Given the description of an element on the screen output the (x, y) to click on. 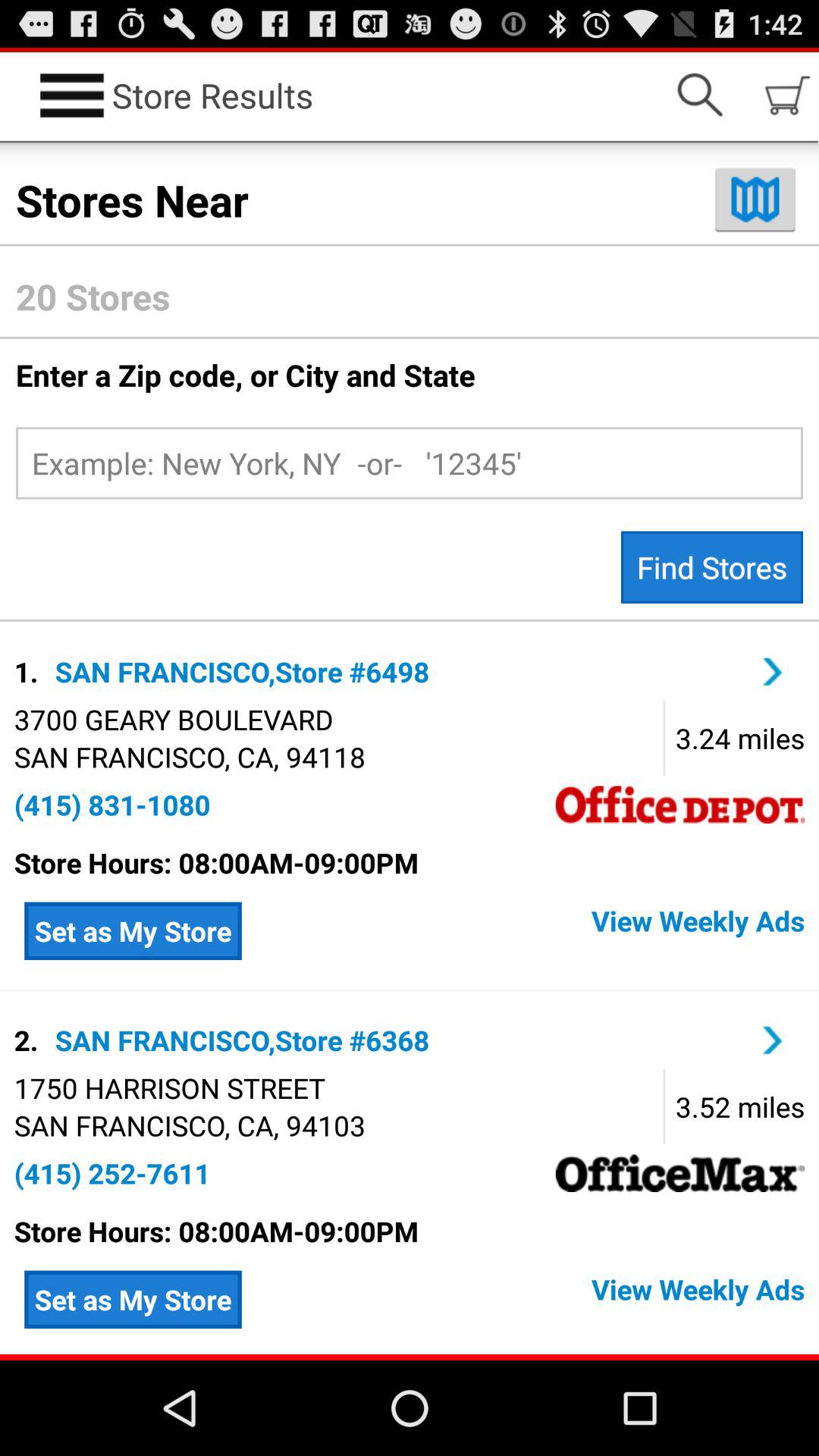
choose location (772, 1040)
